Given the description of an element on the screen output the (x, y) to click on. 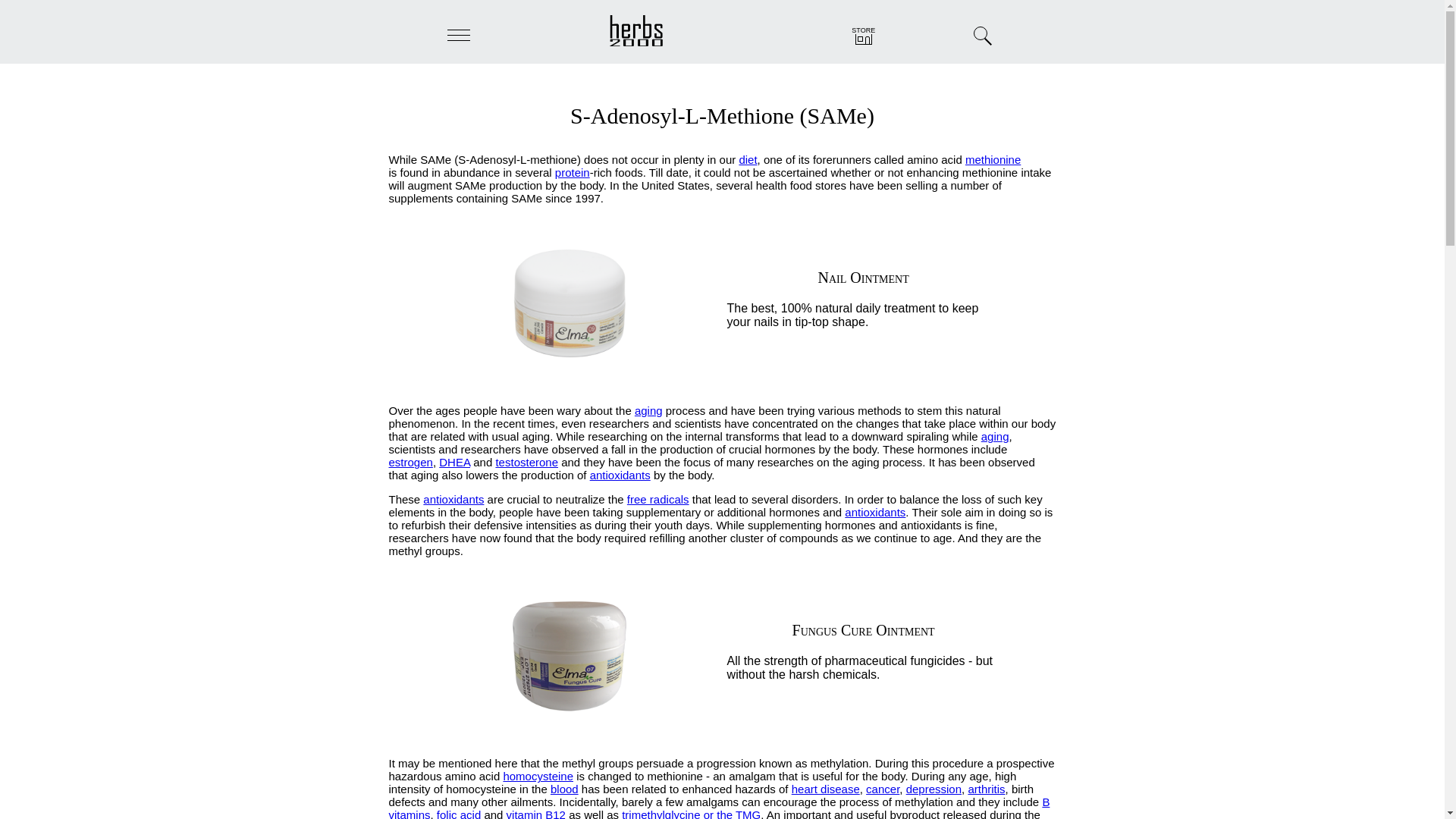
cancer (882, 788)
protein (571, 172)
heart disease (826, 788)
testosterone (526, 461)
DHEA (454, 461)
diet (747, 159)
aging (648, 410)
methionine (992, 159)
antioxidants (874, 512)
estrogen (410, 461)
aging (995, 436)
depression (932, 788)
antioxidants (619, 474)
blood (564, 788)
